Given the description of an element on the screen output the (x, y) to click on. 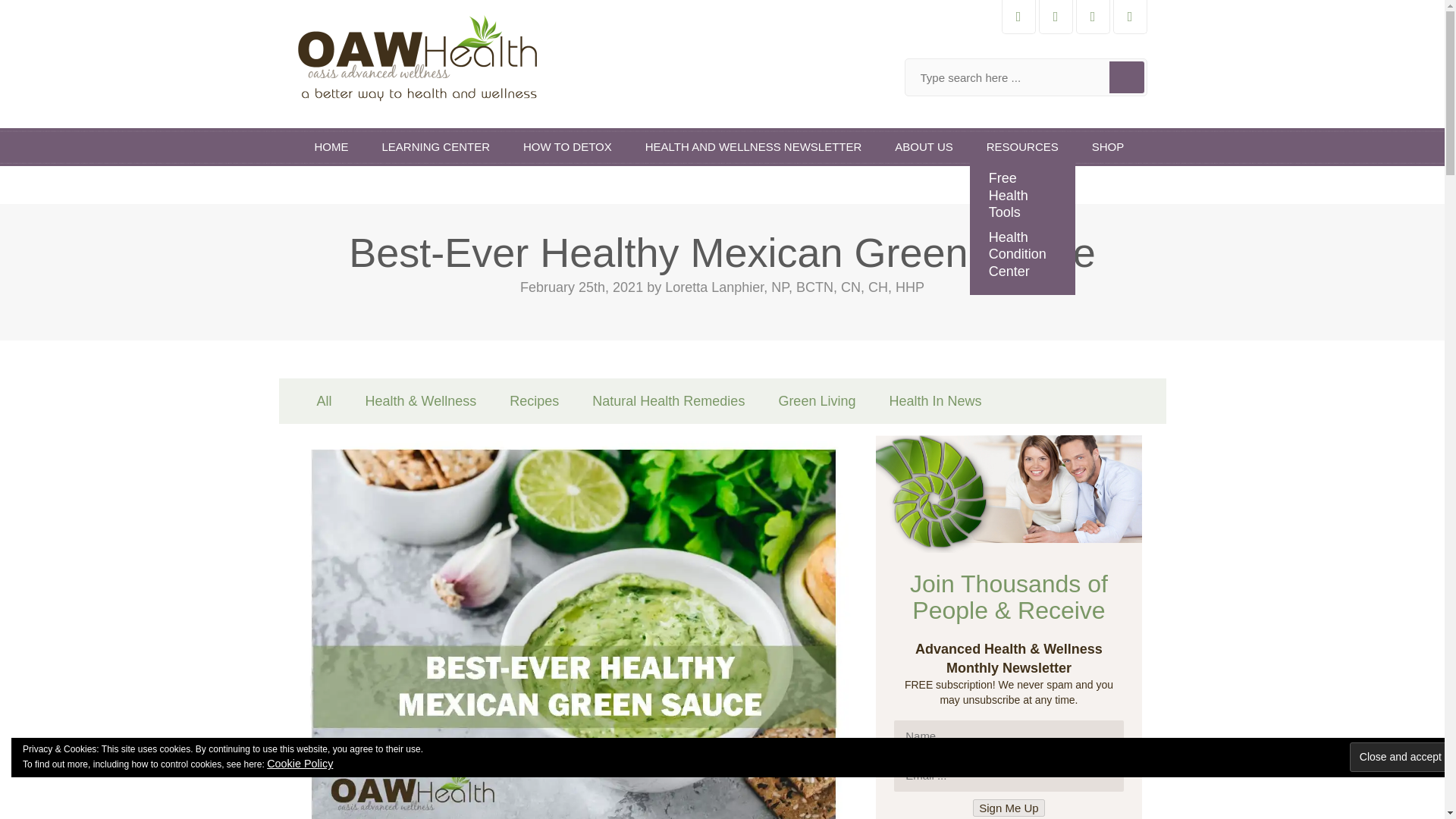
LEARNING CENTER (435, 146)
Health Condition Center (1022, 253)
RESOURCES (1022, 146)
HOME (331, 146)
HEALTH AND WELLNESS NEWSLETTER (753, 146)
Recipes (534, 400)
SHOP (1108, 146)
Green Living (816, 400)
CONTACT US (350, 184)
Free Health Tools (1022, 195)
